Given the description of an element on the screen output the (x, y) to click on. 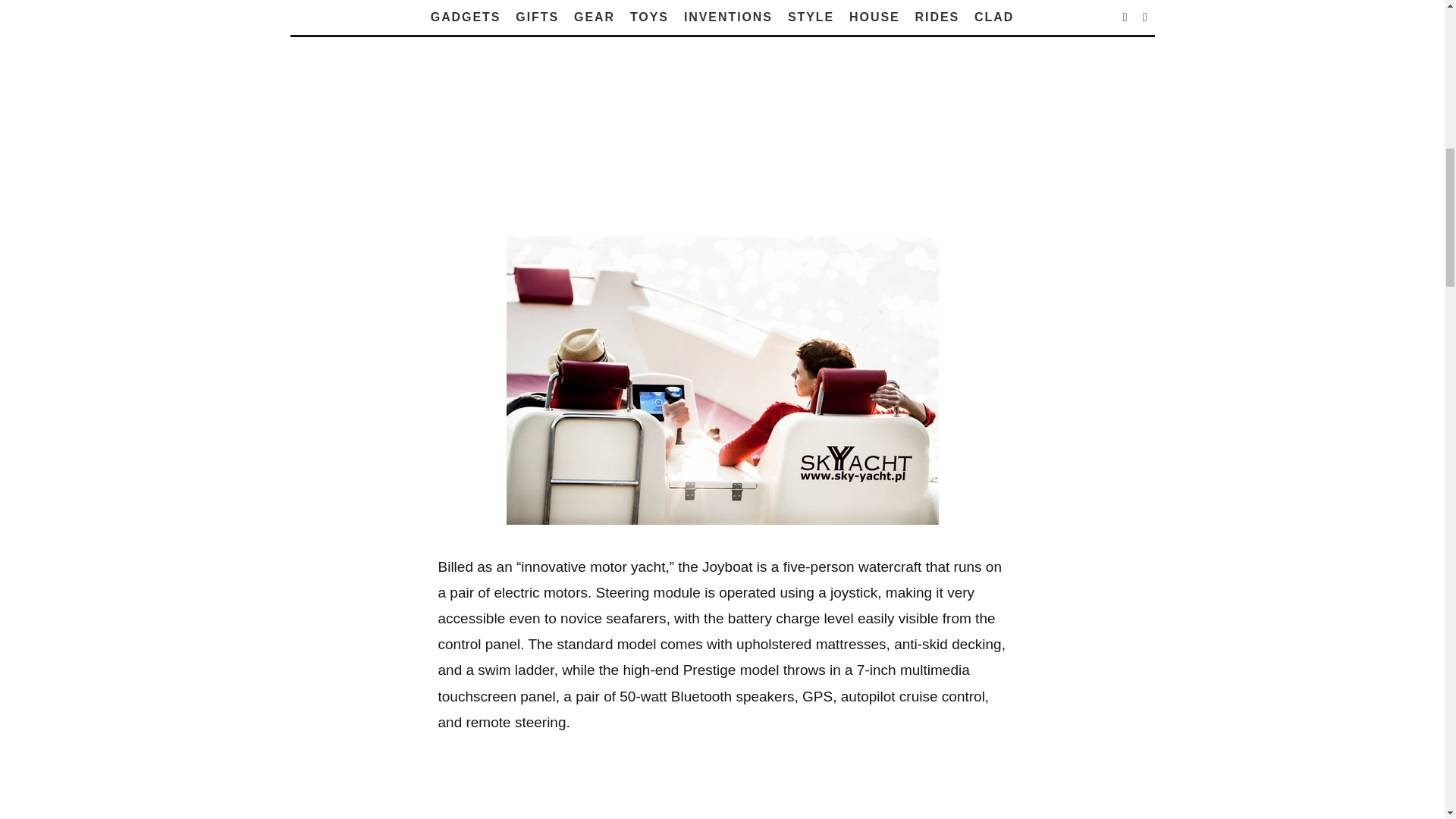
Advertisement (722, 124)
